Given the description of an element on the screen output the (x, y) to click on. 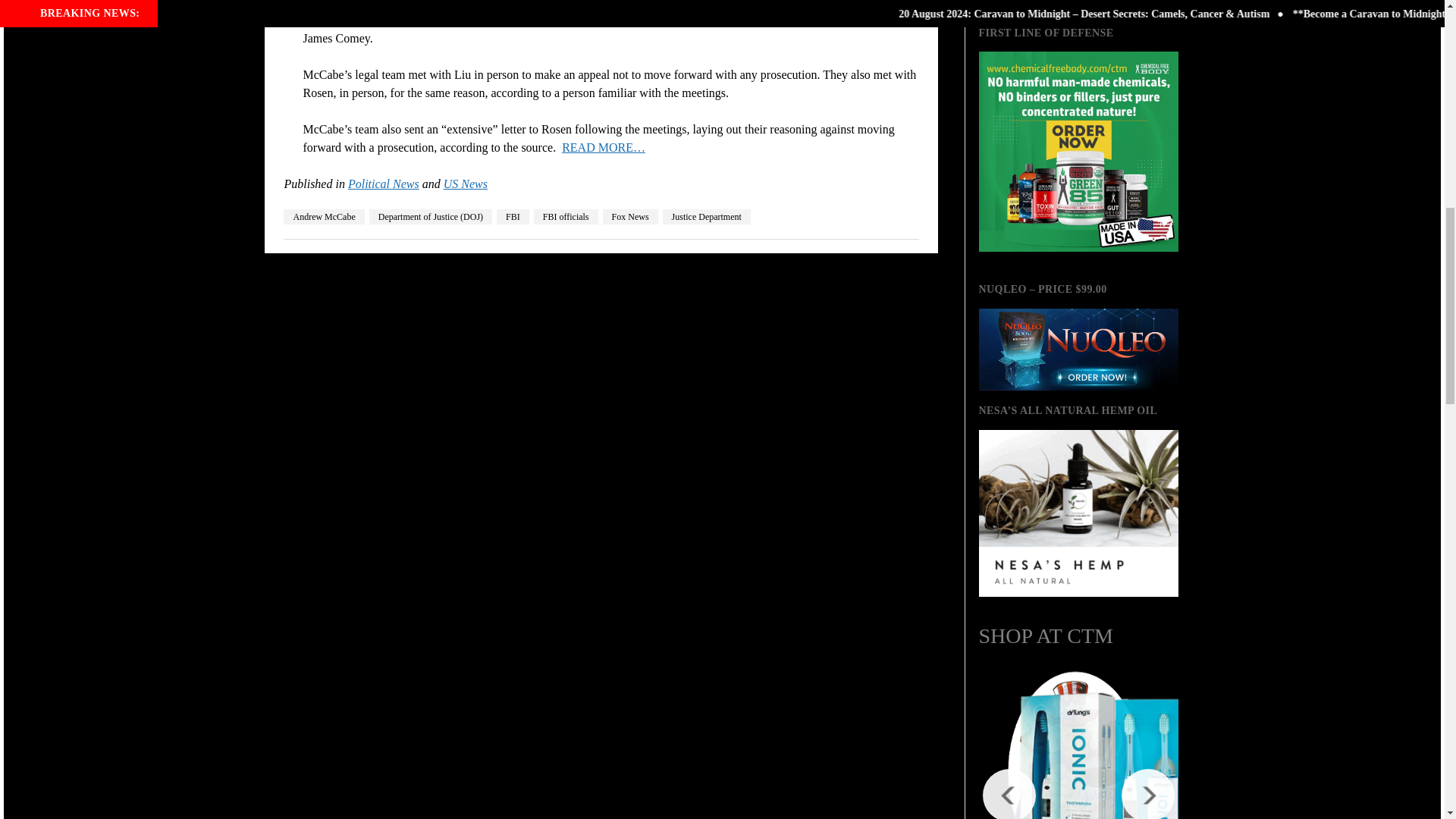
Andrew McCabe (323, 216)
View all posts tagged Justice Department (706, 216)
View all posts tagged Andrew McCabe (323, 216)
FBI officials (566, 216)
View all posts tagged Fox News (630, 216)
Political News (383, 183)
Justice Department (706, 216)
View all posts tagged FBI officials (566, 216)
View all posts in Political News (383, 183)
FBI (512, 216)
